Given the description of an element on the screen output the (x, y) to click on. 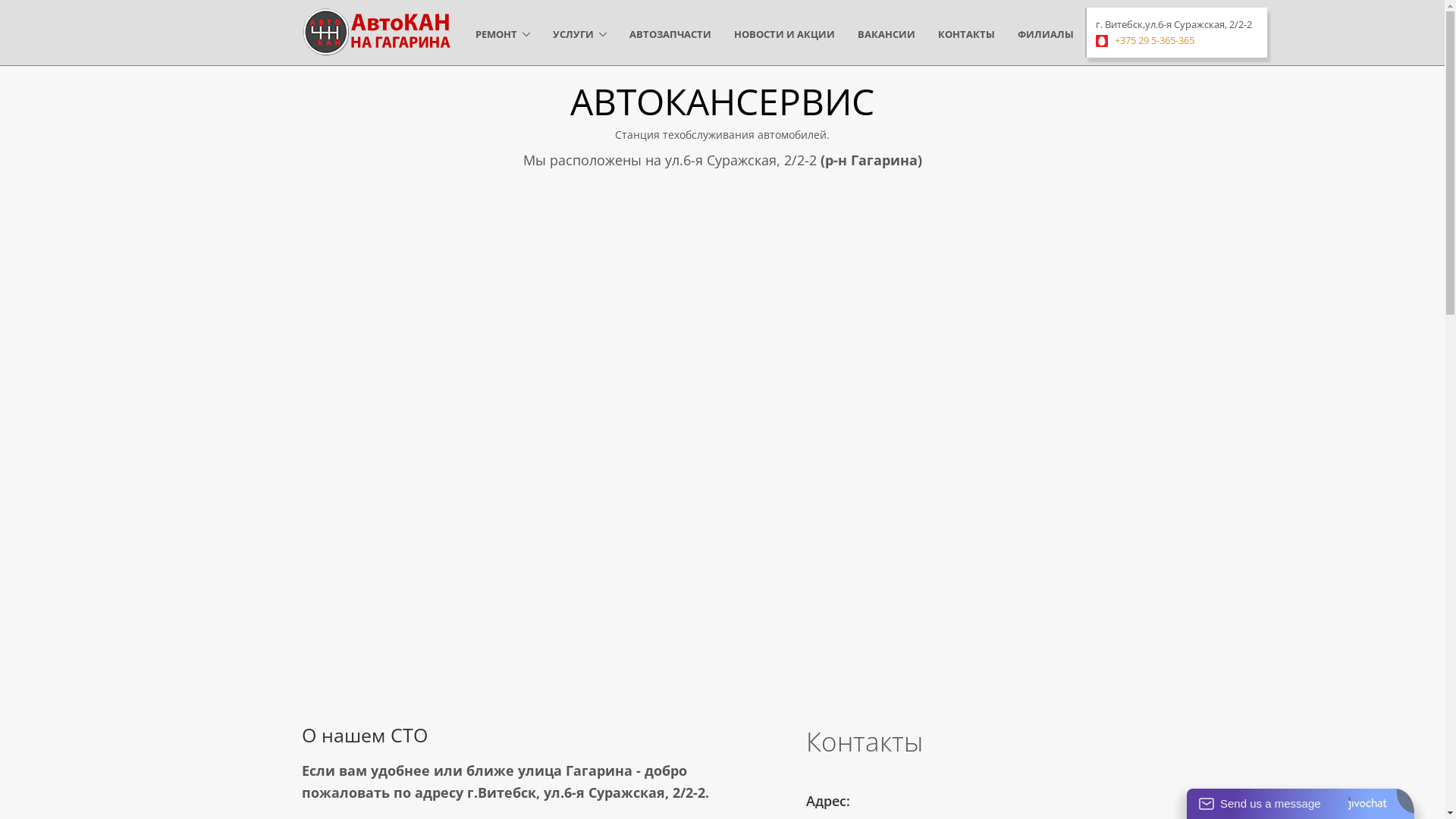
+375 29 5-365-365 Element type: text (1154, 40)
